Given the description of an element on the screen output the (x, y) to click on. 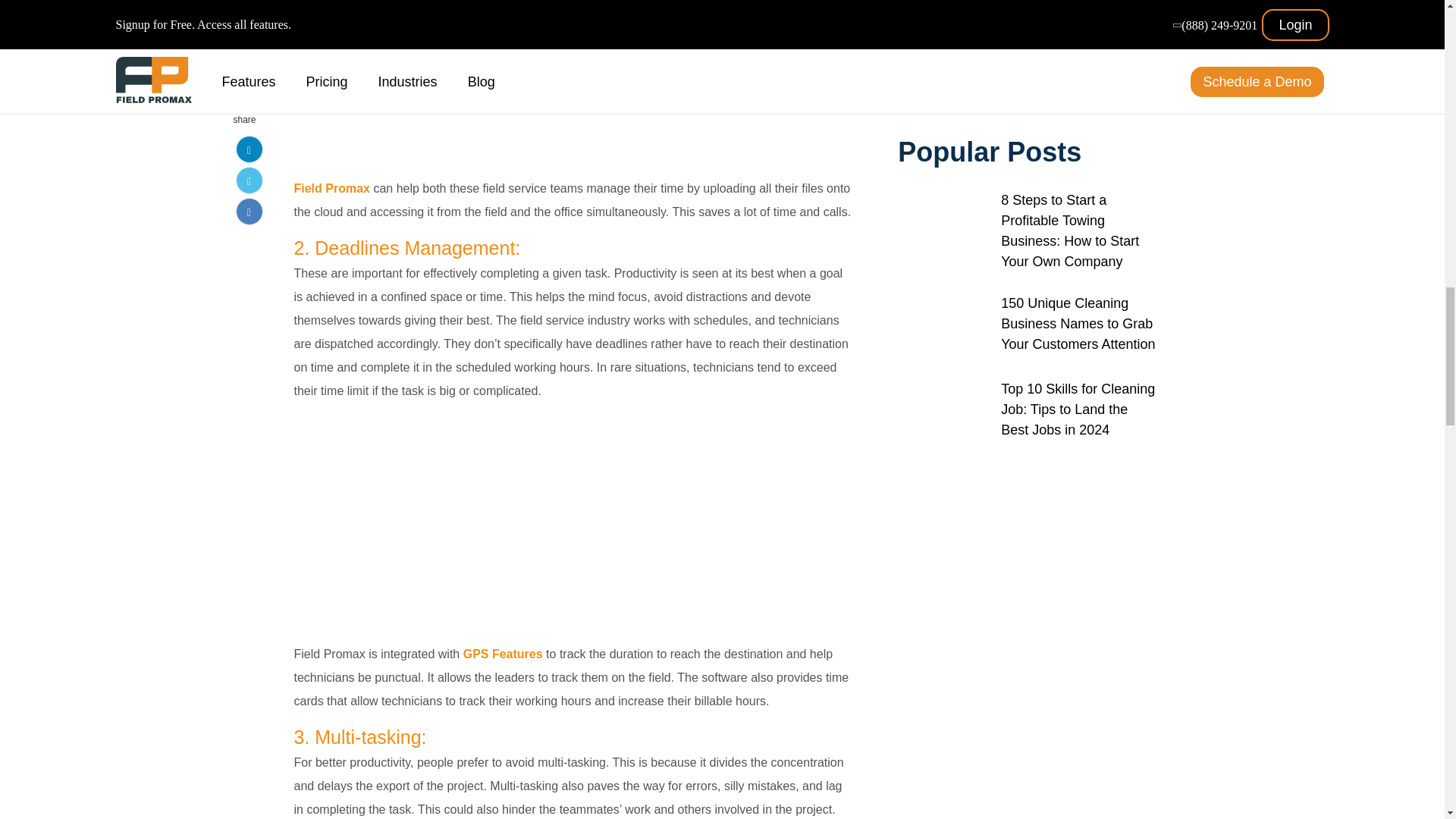
GPS Features (503, 653)
Field Promax (331, 187)
